Given the description of an element on the screen output the (x, y) to click on. 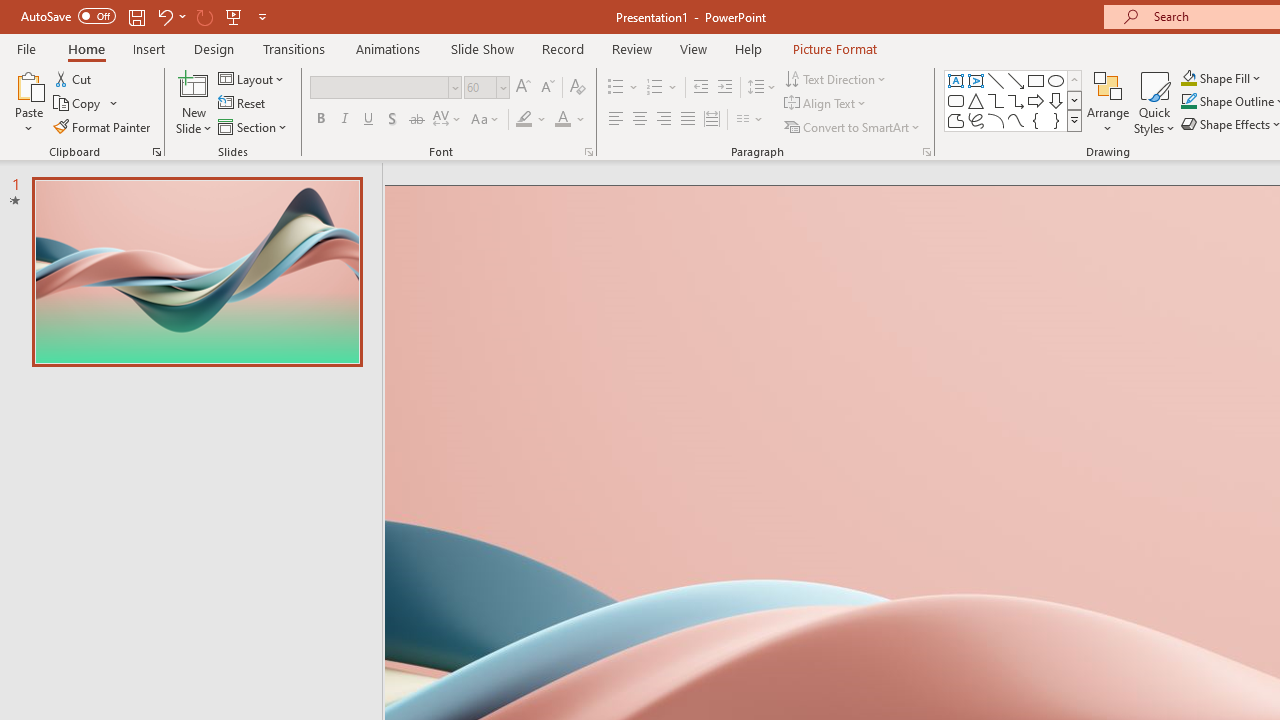
Picture Format (834, 48)
